Given the description of an element on the screen output the (x, y) to click on. 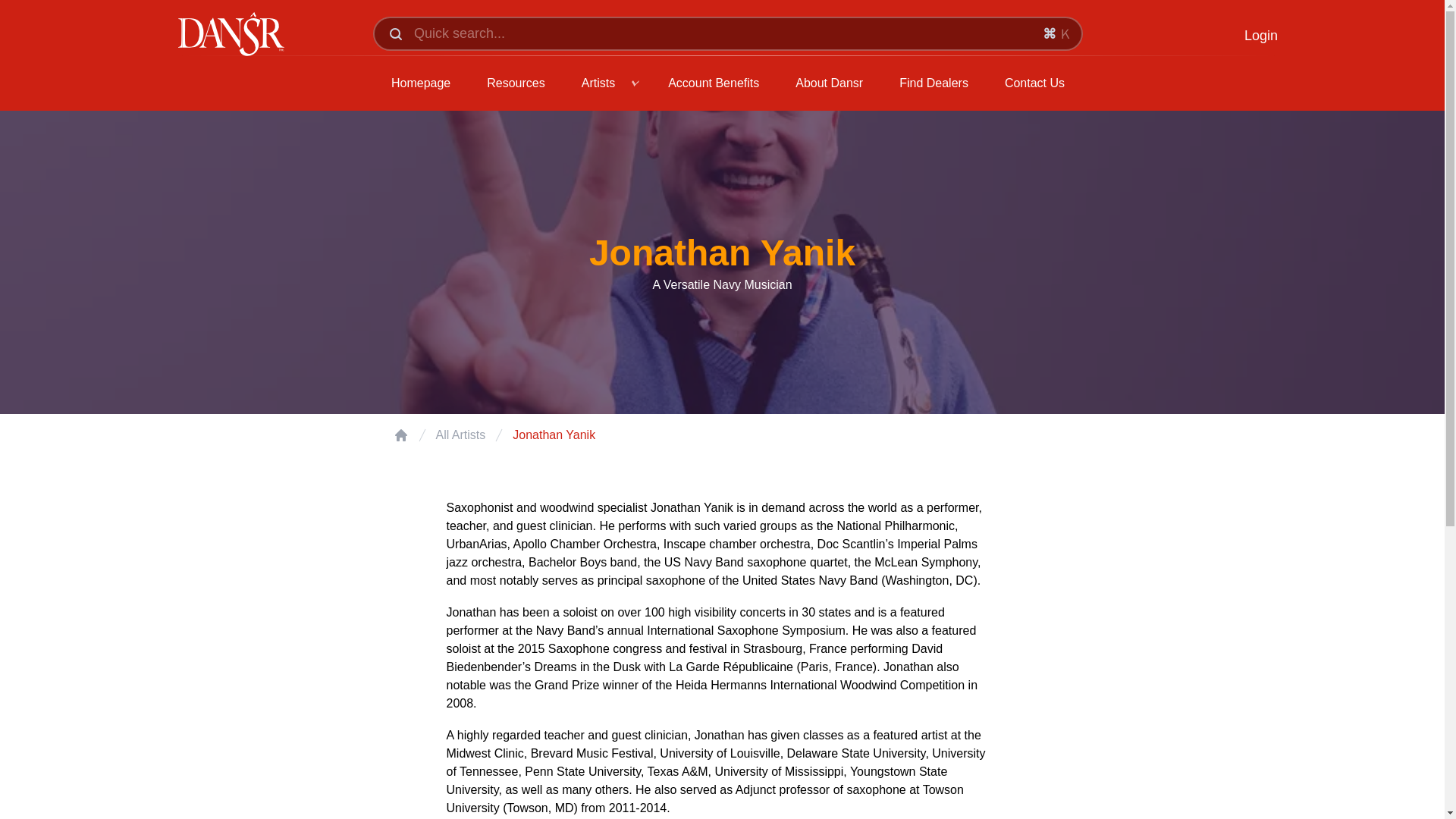
Login (1261, 35)
Find Dealers (932, 82)
Account Benefits (713, 82)
Contact Us (1034, 82)
About Dansr (829, 82)
Homepage (420, 82)
Artists (598, 82)
Resources (515, 82)
All Artists (459, 434)
Home (400, 435)
Jonathan Yanik (553, 434)
